Given the description of an element on the screen output the (x, y) to click on. 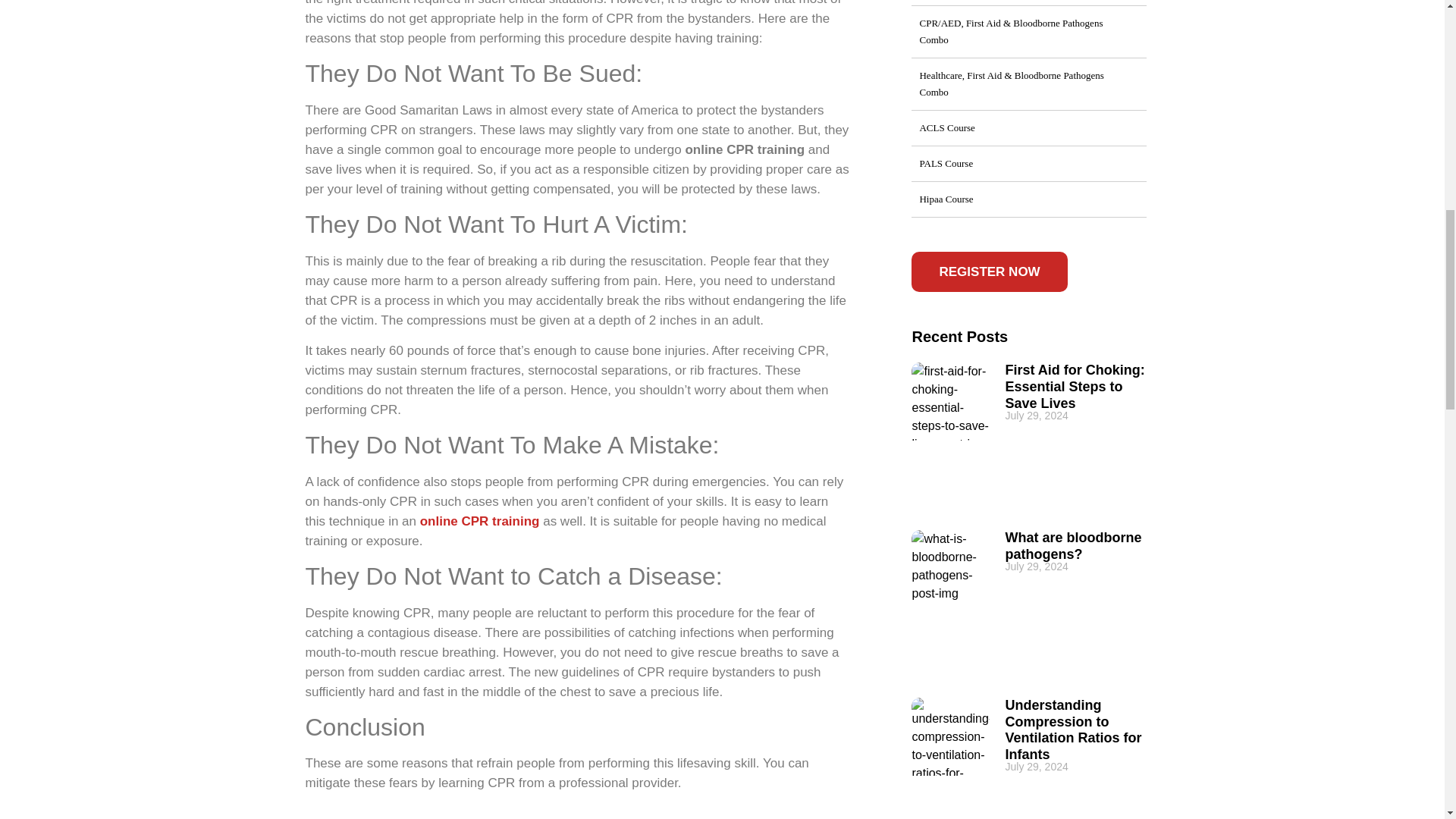
what-is-bloodborne-pathogens-post-img (950, 568)
first-aid-for-choking-essential-steps-to-save-lives-post-img (950, 401)
